Given the description of an element on the screen output the (x, y) to click on. 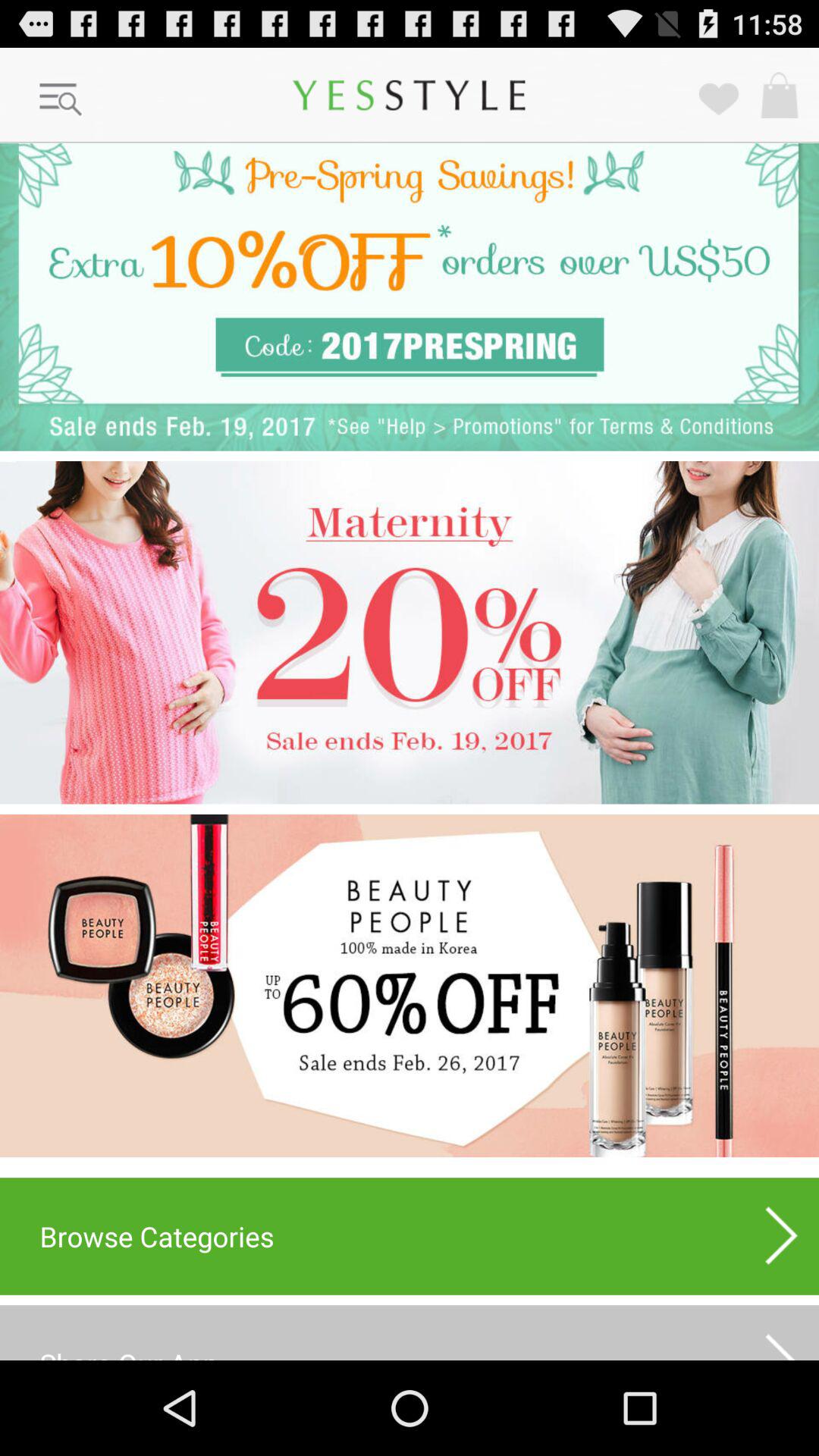
select app below browse categories item (782, 1336)
